Given the description of an element on the screen output the (x, y) to click on. 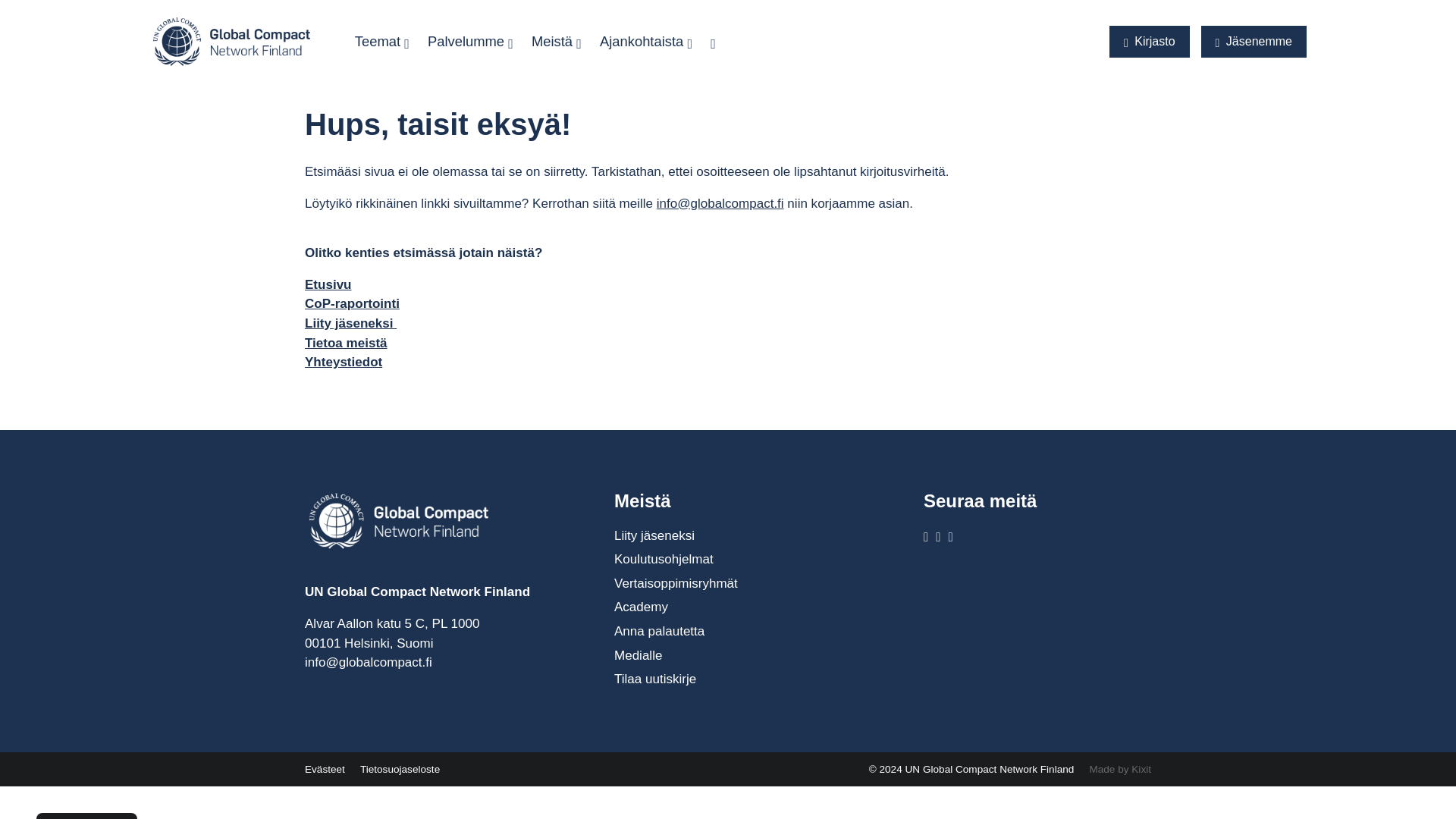
Ajankohtaista (646, 41)
Teemat (382, 41)
Linkki etusivulle (239, 40)
Palvelumme (470, 41)
Kirjasto (1149, 41)
